Given the description of an element on the screen output the (x, y) to click on. 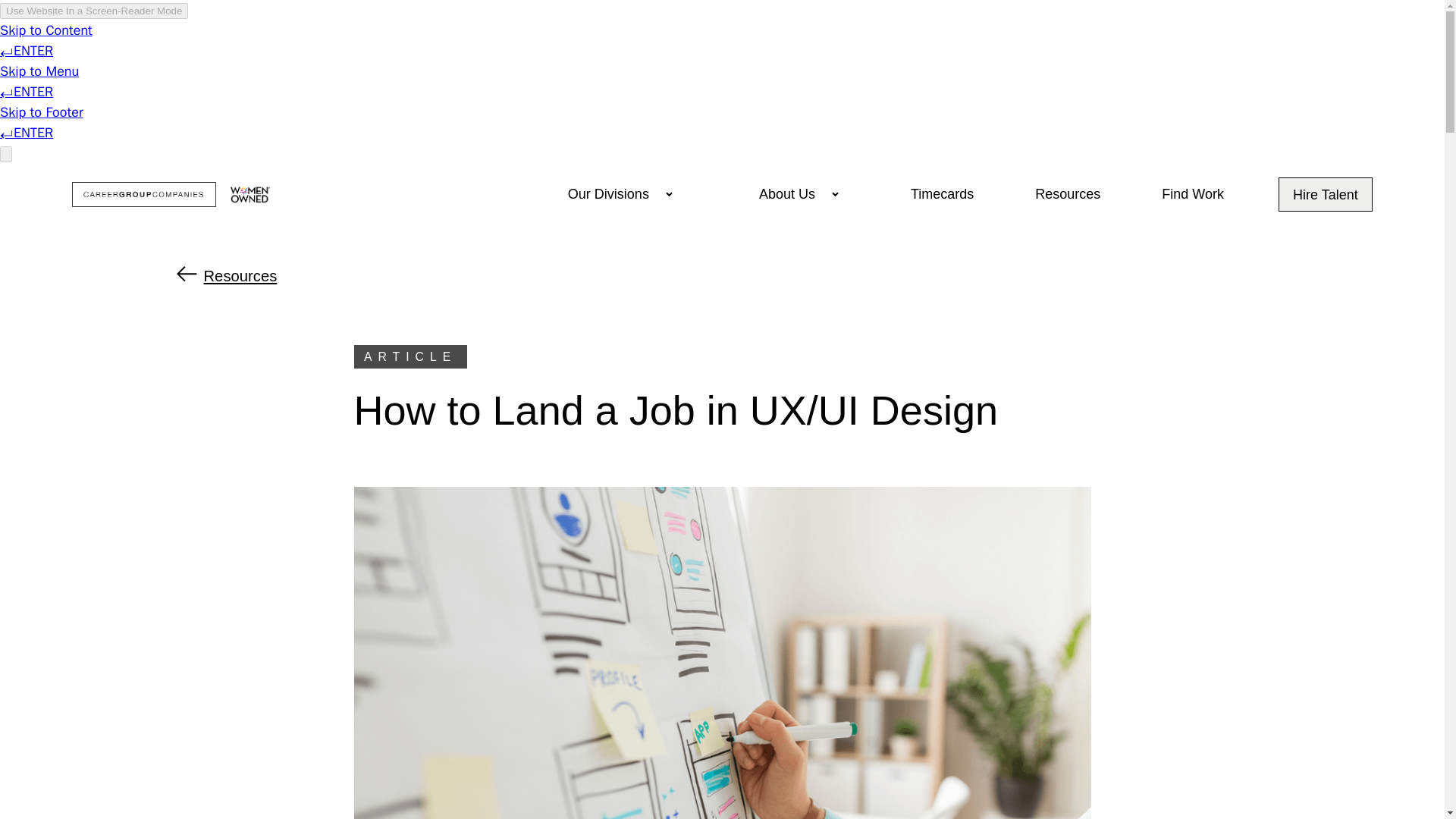
Our Divisions (608, 193)
Timecards (941, 194)
Hire Talent (1325, 194)
Resources (722, 275)
Find Work (1192, 194)
Resources (1066, 194)
About Us (787, 193)
